Given the description of an element on the screen output the (x, y) to click on. 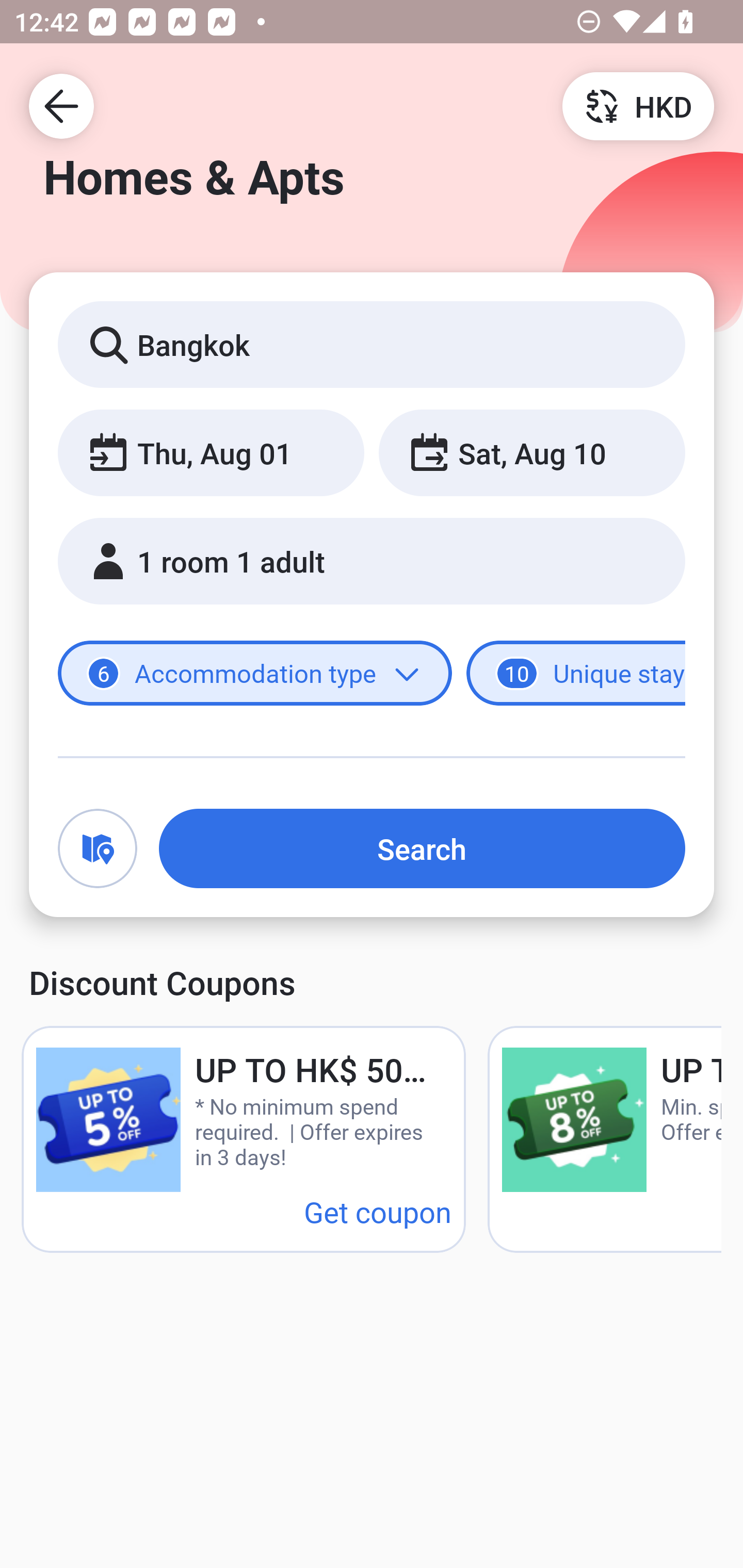
HKD (638, 105)
Bangkok (371, 344)
Thu, Aug 01 (210, 452)
Sat, Aug 10 (531, 452)
1 room 1 adult (371, 561)
6 Accommodation type (254, 673)
10 Unique stays (575, 673)
Search (422, 848)
Get coupon (377, 1211)
